Given the description of an element on the screen output the (x, y) to click on. 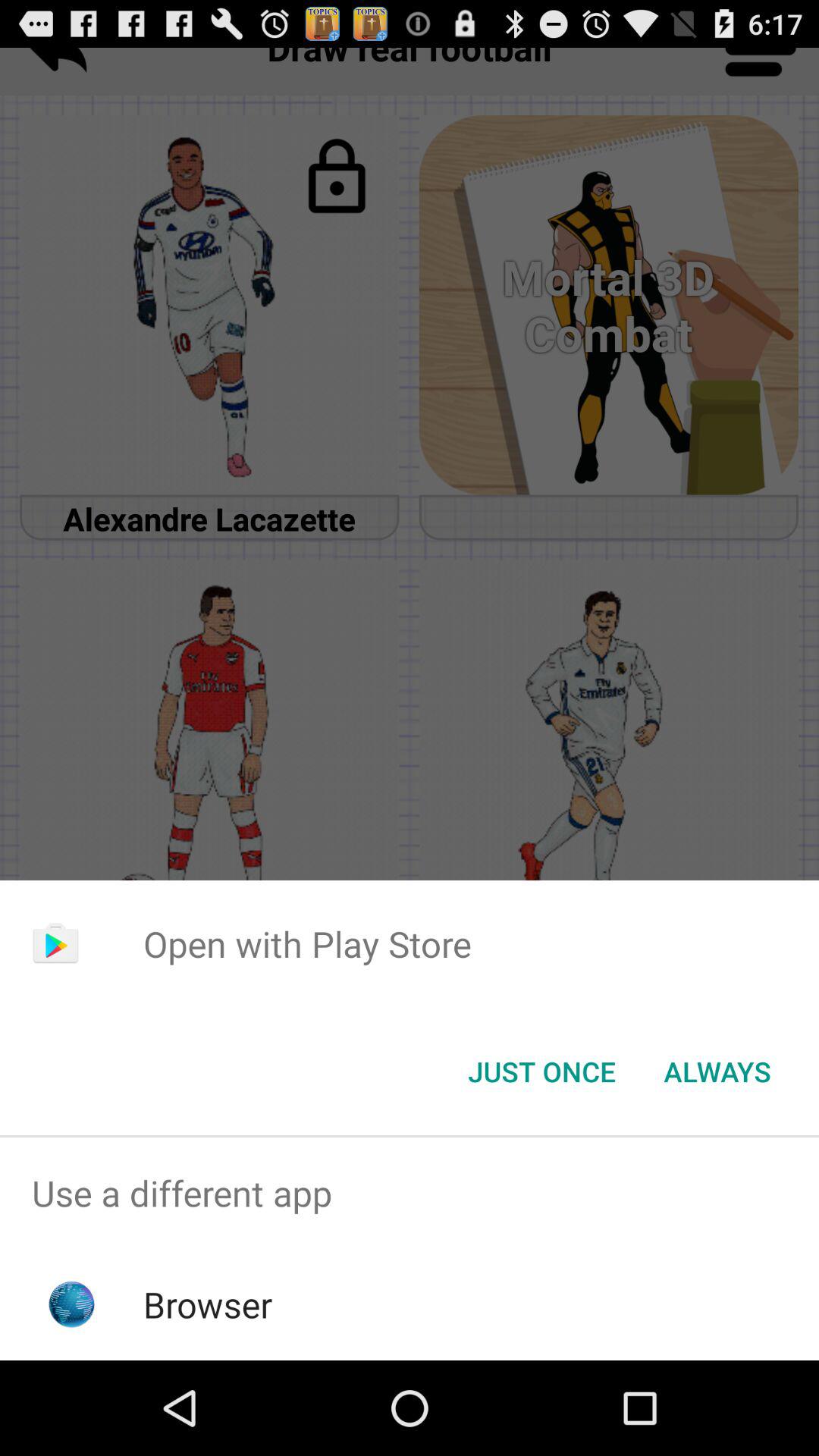
select the icon to the right of just once item (717, 1071)
